Given the description of an element on the screen output the (x, y) to click on. 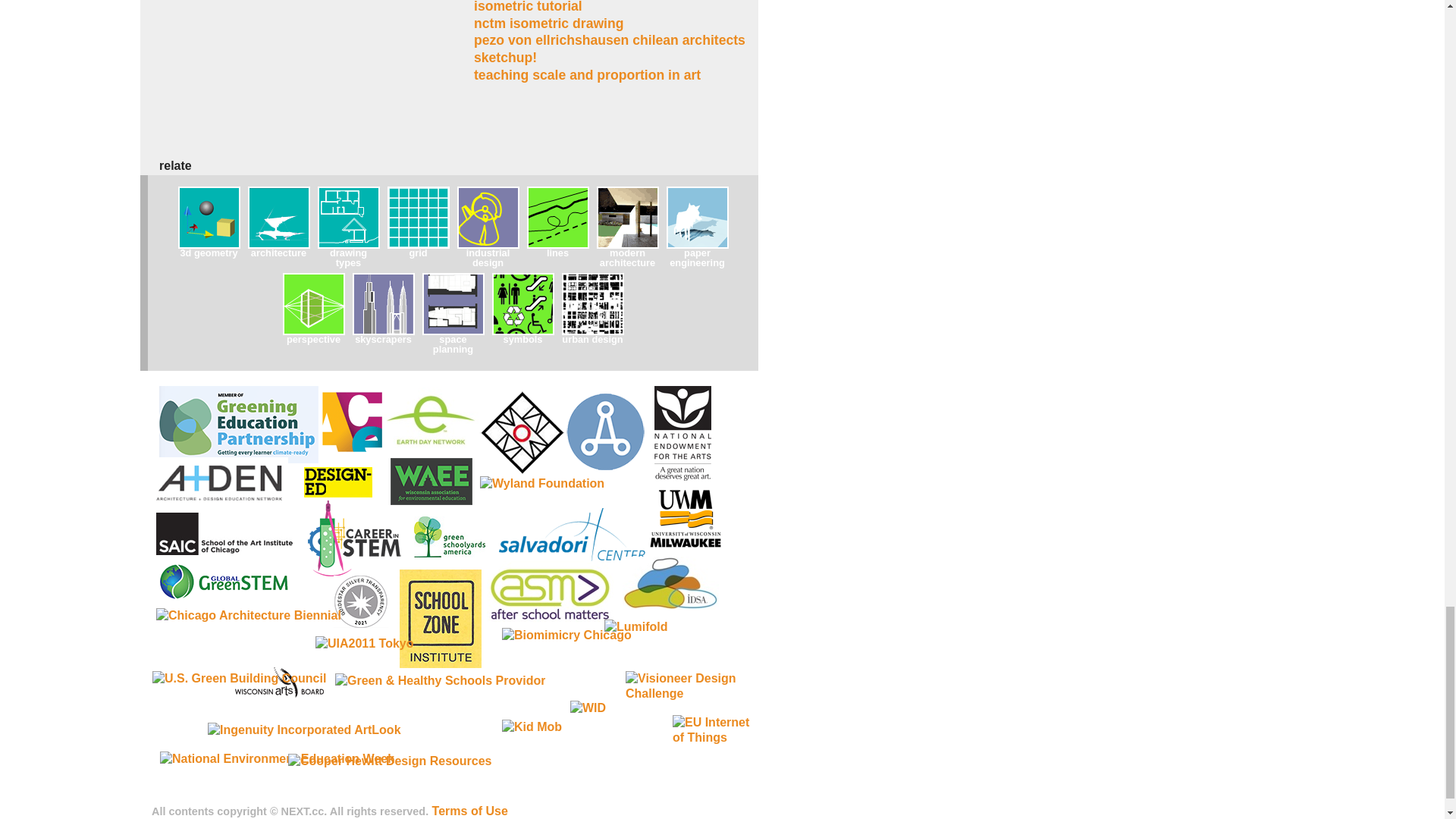
UNESCO Greening Education Partner (238, 424)
Wisconsin Environmental Education Foundation (430, 481)
Earth Day Educators Network (430, 421)
DESIGN-ED (338, 481)
ACE Mentor Program (351, 422)
ADEN (219, 480)
NOMAS (520, 434)
AIAs UWM (602, 431)
